Given the description of an element on the screen output the (x, y) to click on. 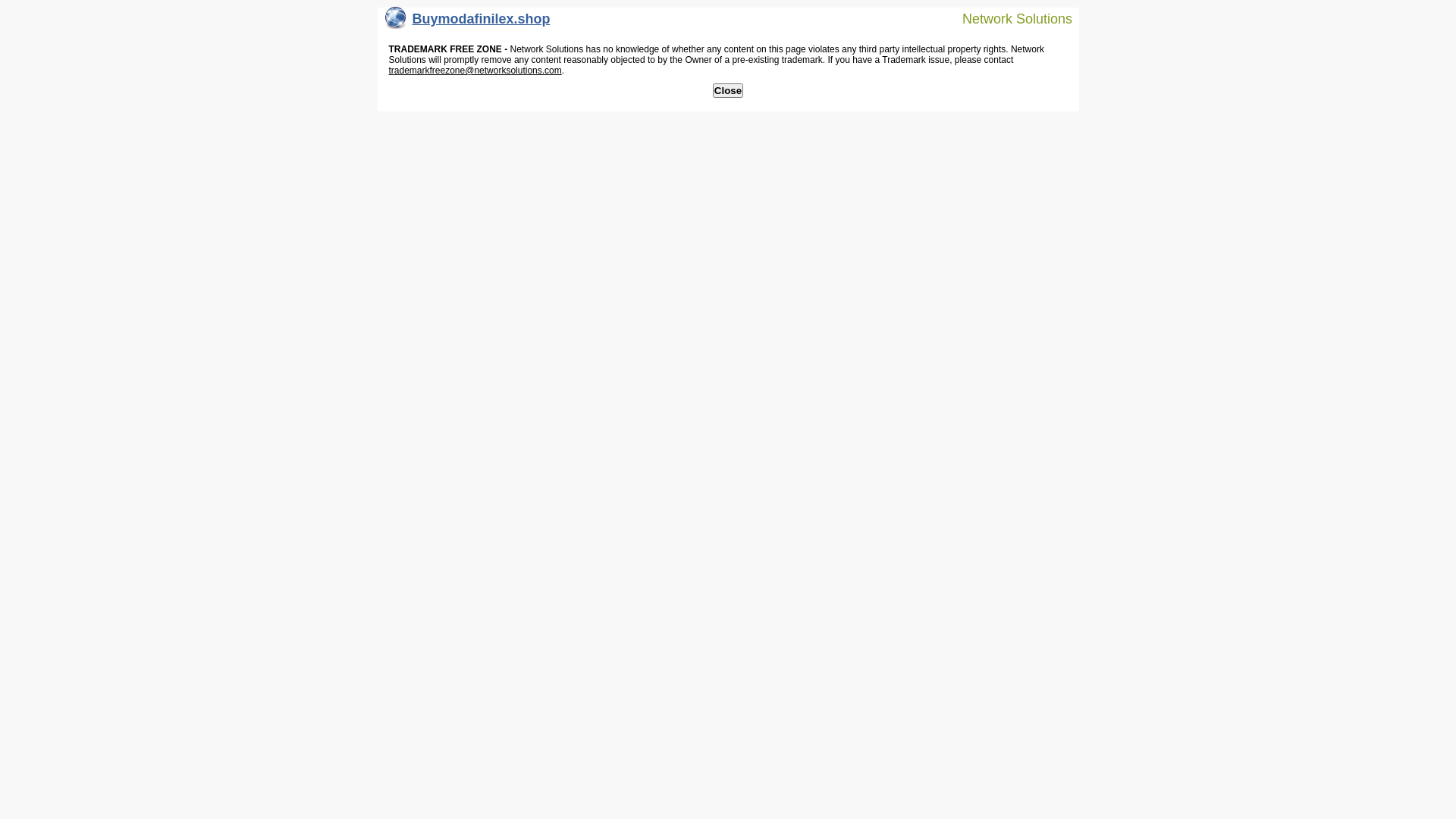
Close Element type: text (727, 90)
Buymodafinilex.shop Element type: text (467, 21)
Network Solutions Element type: text (1007, 17)
trademarkfreezone@networksolutions.com Element type: text (474, 70)
